Given the description of an element on the screen output the (x, y) to click on. 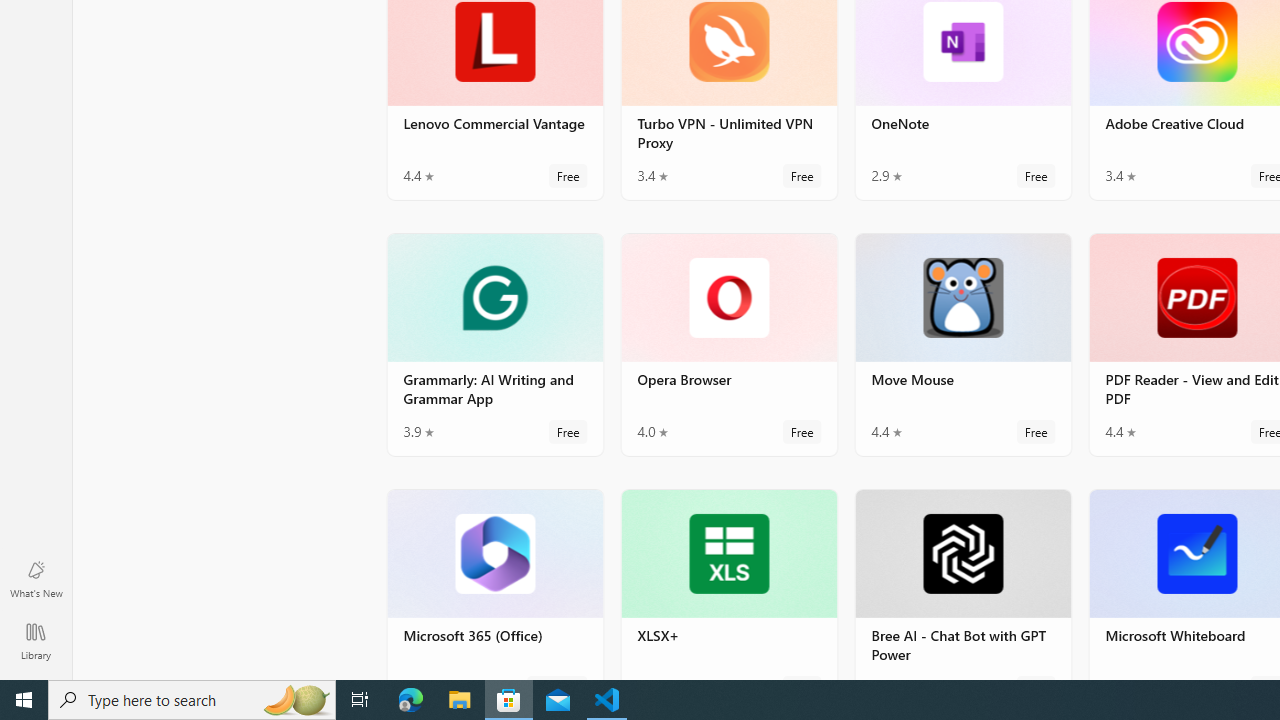
What's New (35, 578)
XLSX+. Average rating of 4.6 out of five stars. Free   (728, 583)
Library (35, 640)
